Given the description of an element on the screen output the (x, y) to click on. 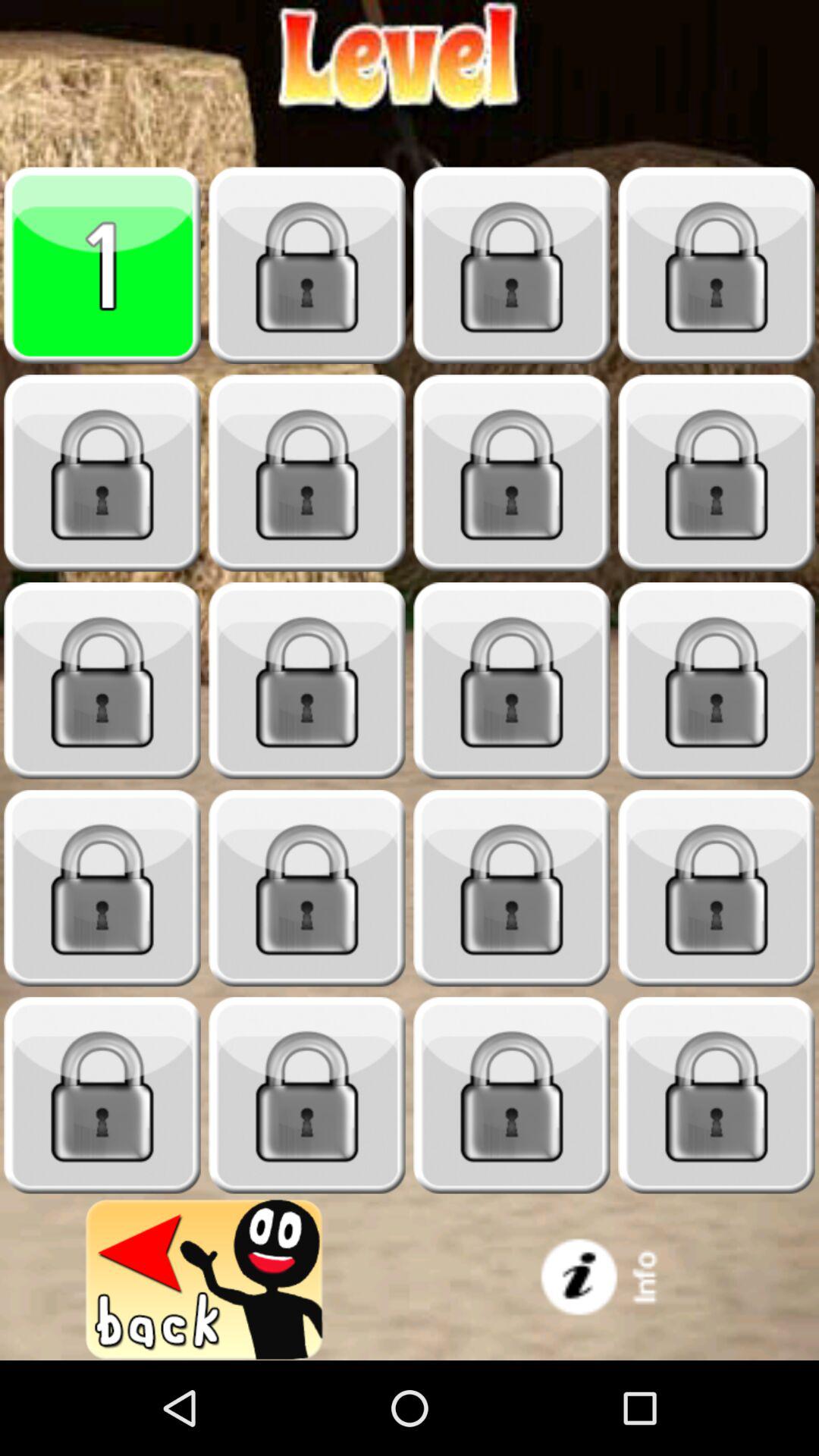
lock option (306, 265)
